Given the description of an element on the screen output the (x, y) to click on. 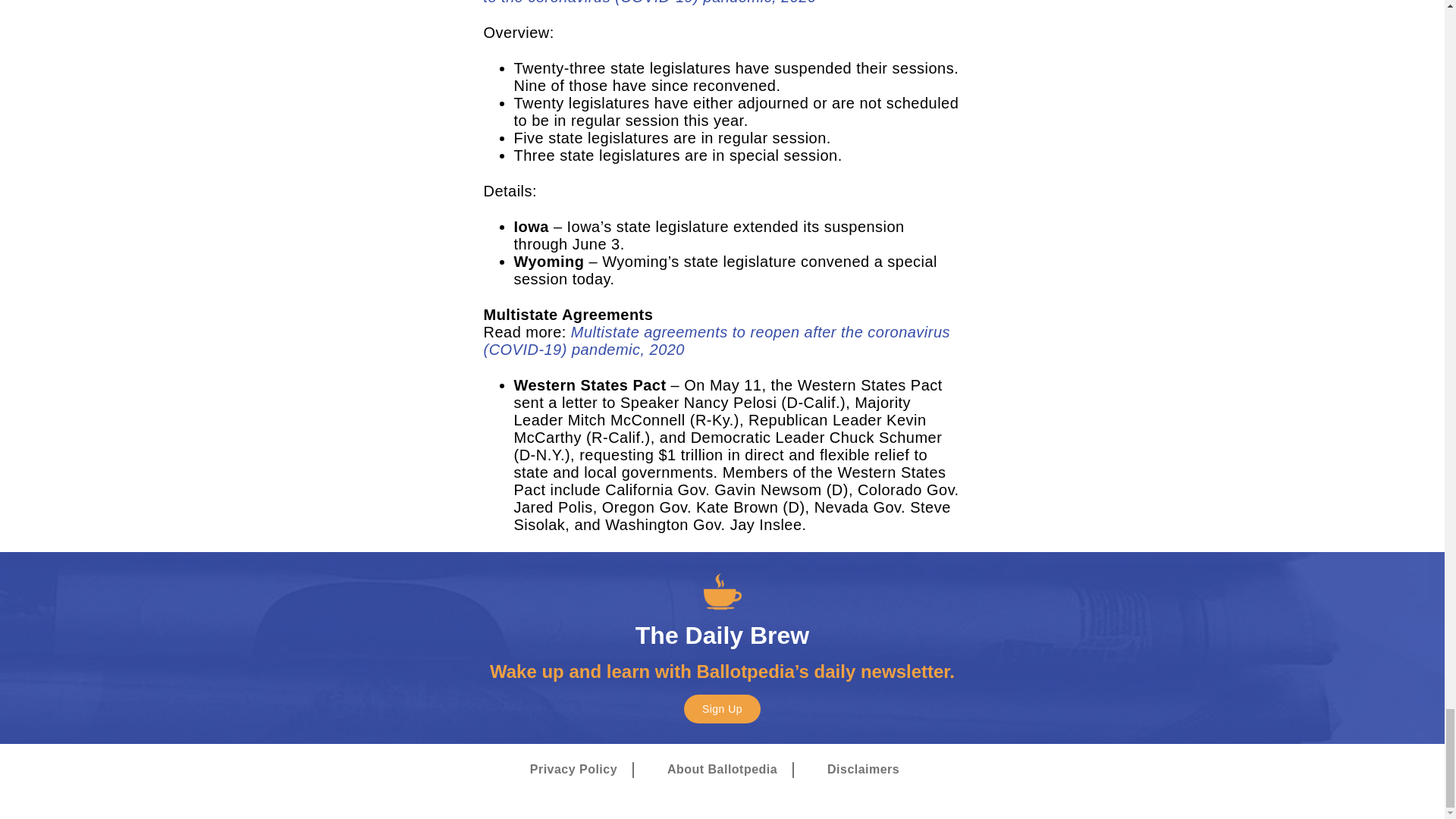
Sign Up (722, 708)
Privacy Policy (573, 770)
